Given the description of an element on the screen output the (x, y) to click on. 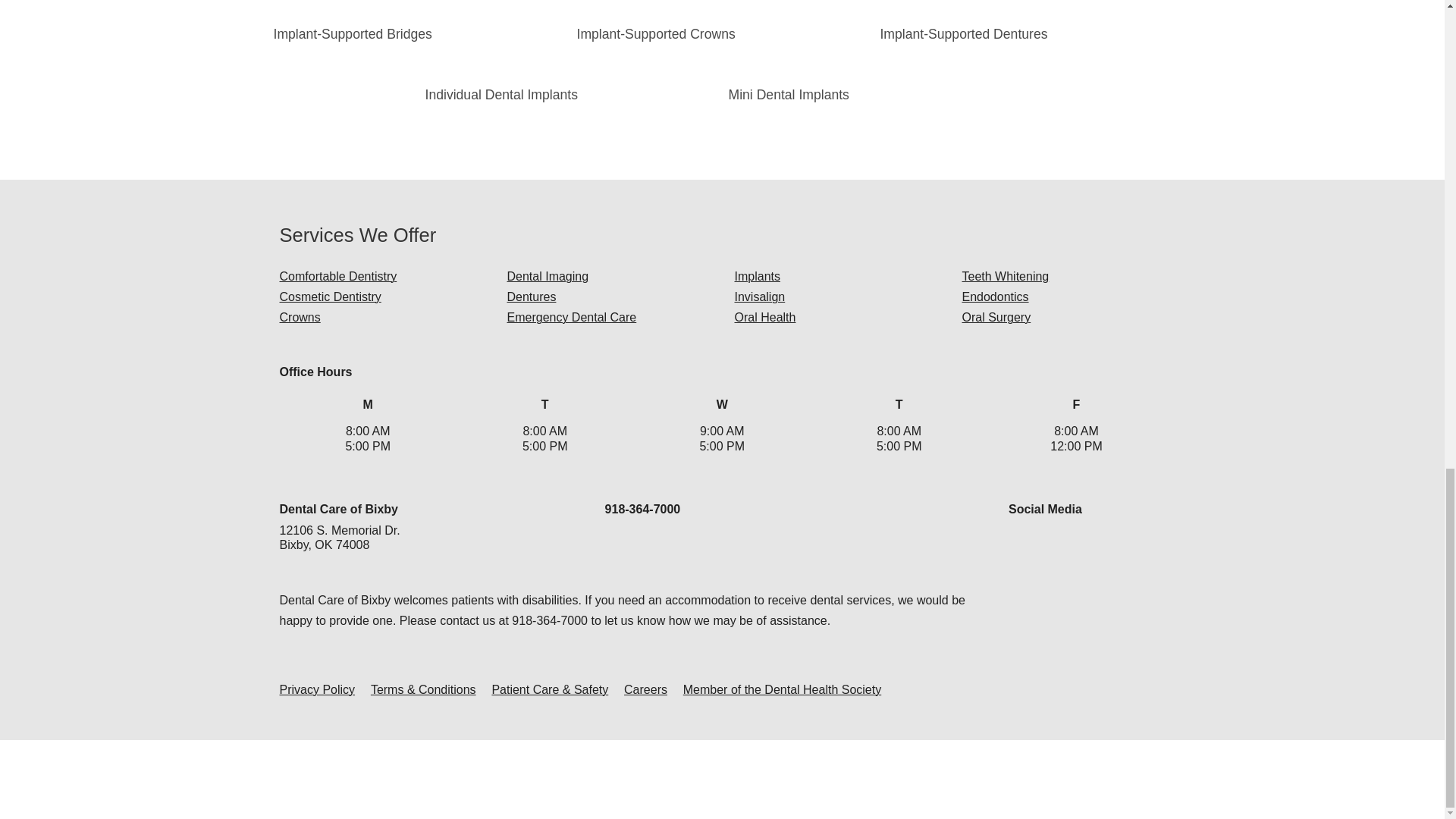
Comfortable Dentistry (337, 276)
Endodontics (993, 296)
Individual Dental Implants (501, 94)
Careers (645, 689)
Facebook (1020, 543)
Implants (755, 276)
Implant-Supported Crowns (655, 33)
Instagram (1047, 543)
Mini Dental Implants (788, 94)
918-364-7000 (643, 508)
Implant-Supported Dentures (962, 33)
Oral Health (763, 317)
Member of the Dental Health Society (781, 689)
Teeth Whitening (1004, 276)
Dentures (531, 296)
